Given the description of an element on the screen output the (x, y) to click on. 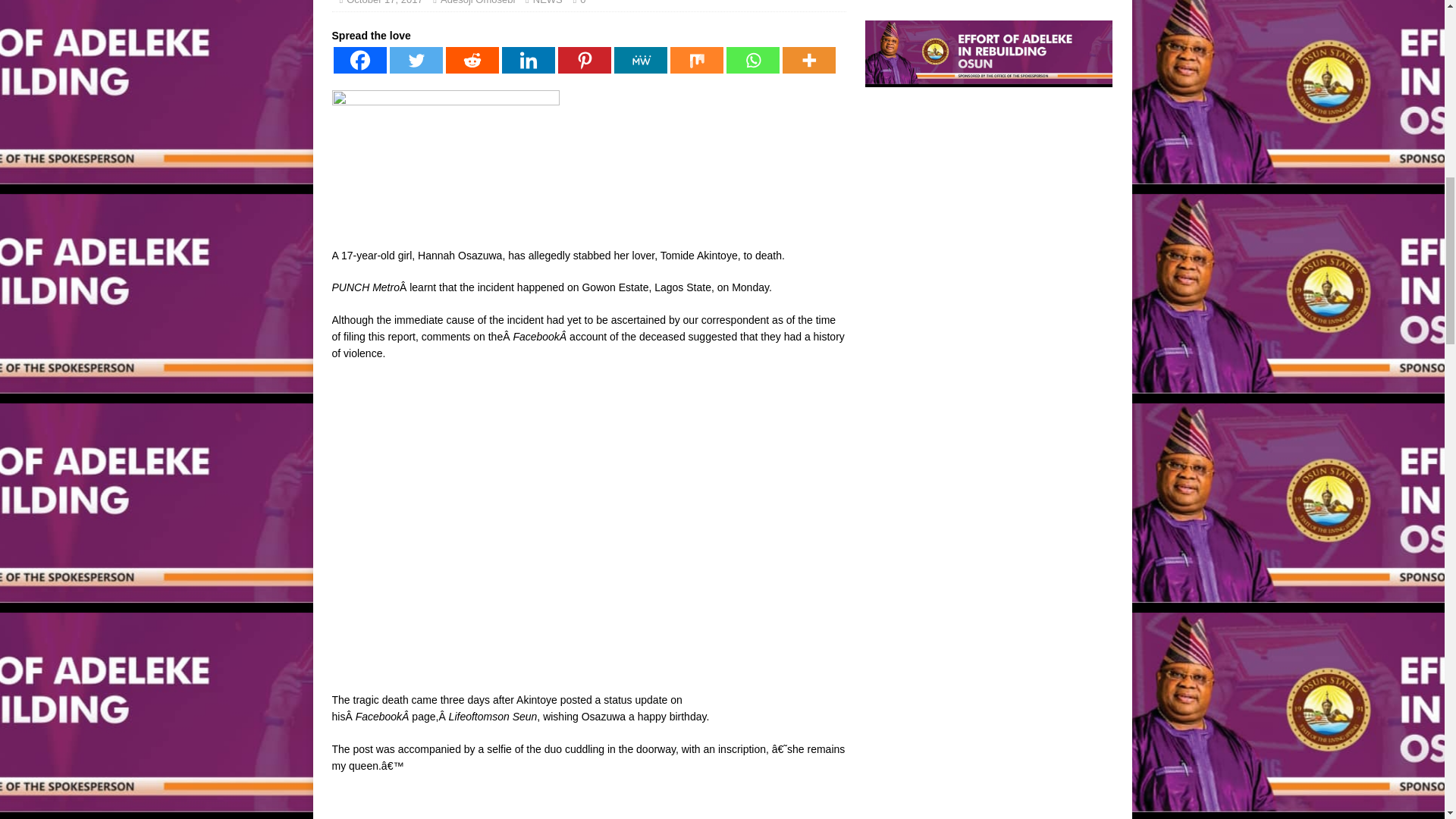
Adesoji Omosebi (478, 2)
Facebook (360, 59)
Linkedin (528, 59)
Mix (696, 59)
Reddit (472, 59)
MeWe (640, 59)
NEWS (547, 2)
Twitter (416, 59)
October 17, 2017 (384, 2)
More (809, 59)
Whatsapp (752, 59)
Pinterest (584, 59)
